Given the description of an element on the screen output the (x, y) to click on. 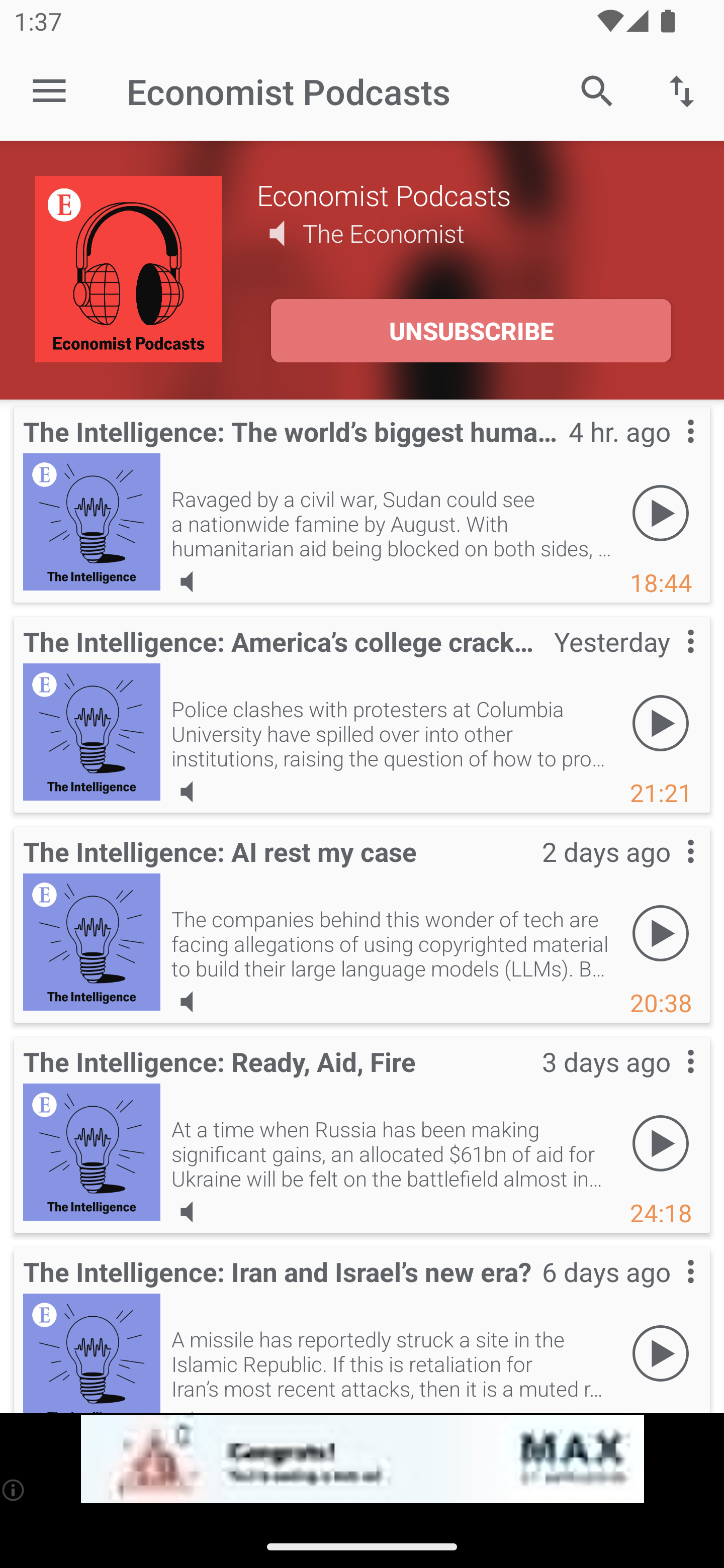
Open navigation sidebar (49, 91)
Search (597, 90)
Sort (681, 90)
UNSUBSCRIBE (470, 330)
Contextual menu (668, 451)
Play (660, 513)
Contextual menu (668, 661)
Play (660, 723)
Contextual menu (668, 870)
Play (660, 933)
Contextual menu (668, 1080)
Play (660, 1143)
Contextual menu (668, 1290)
Play (660, 1353)
app-monetization (362, 1459)
(i) (14, 1489)
